Given the description of an element on the screen output the (x, y) to click on. 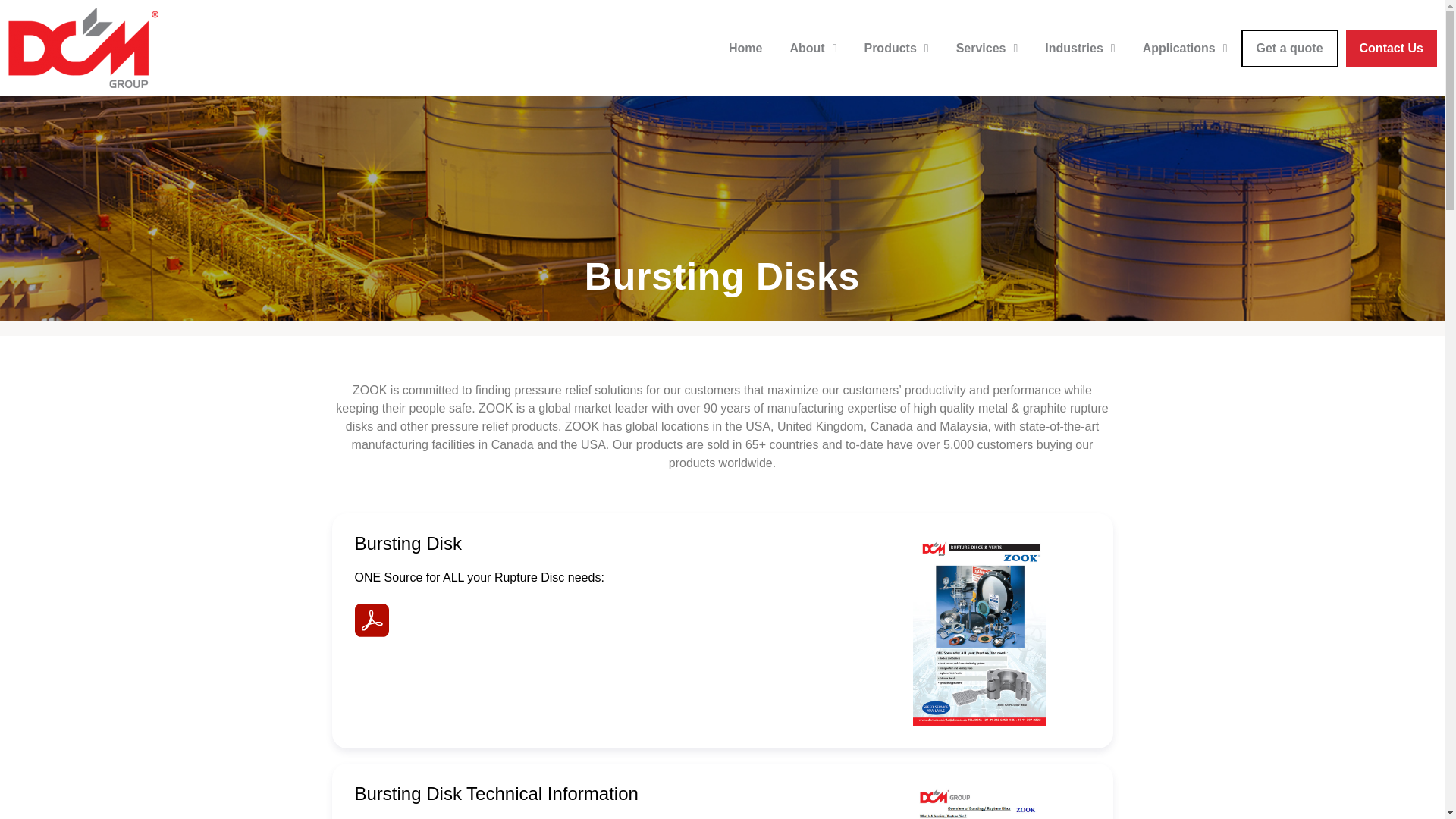
dcm-logo (82, 47)
